Given the description of an element on the screen output the (x, y) to click on. 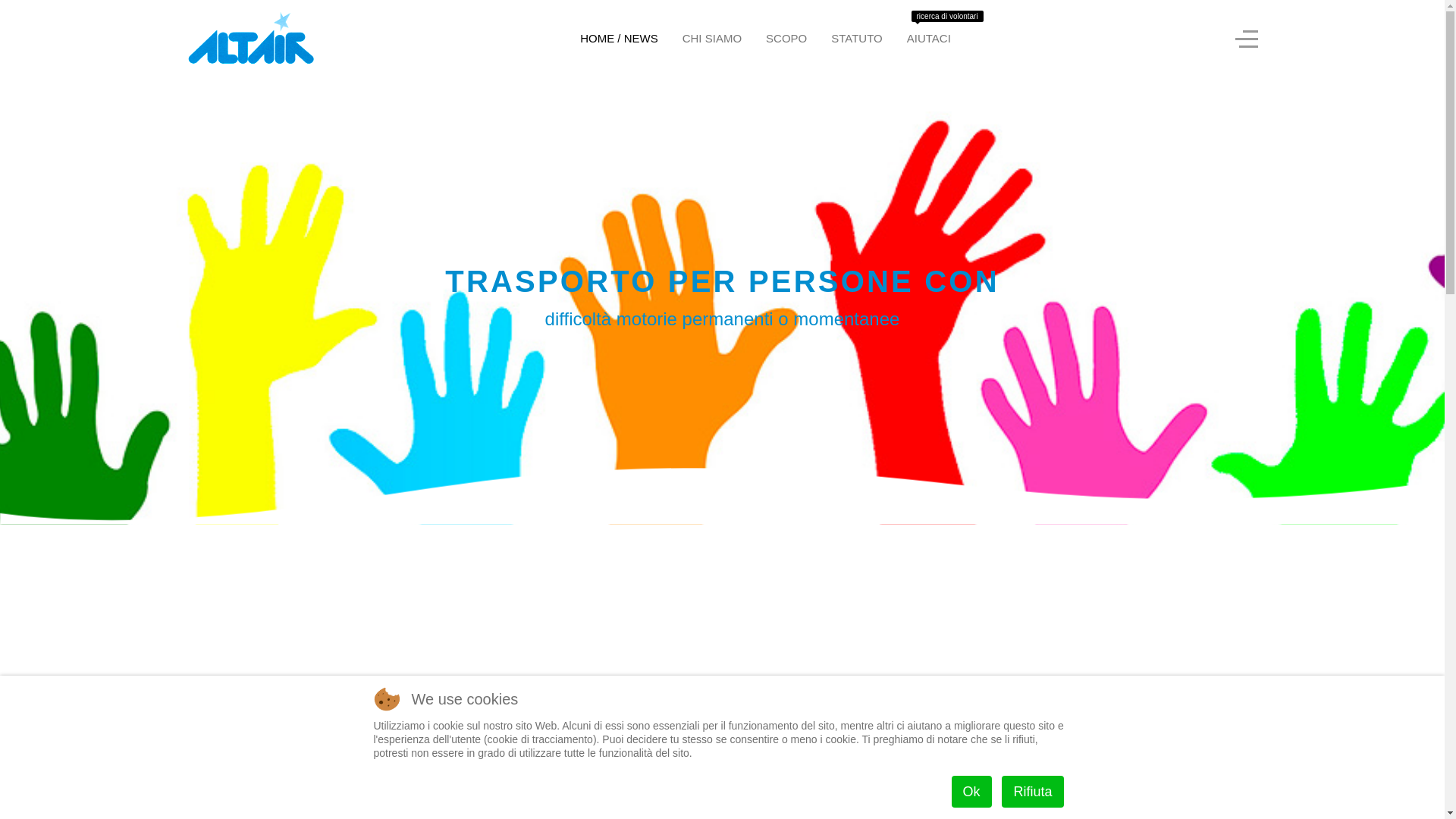
STATUTO Element type: text (856, 38)
AIUTACI
ricerca di volontari Element type: text (928, 38)
Ok Element type: text (971, 791)
HOME / NEWS Element type: text (618, 38)
Rifiuta Element type: text (1032, 791)
CHI SIAMO Element type: text (711, 38)
SCOPO Element type: text (786, 38)
